Given the description of an element on the screen output the (x, y) to click on. 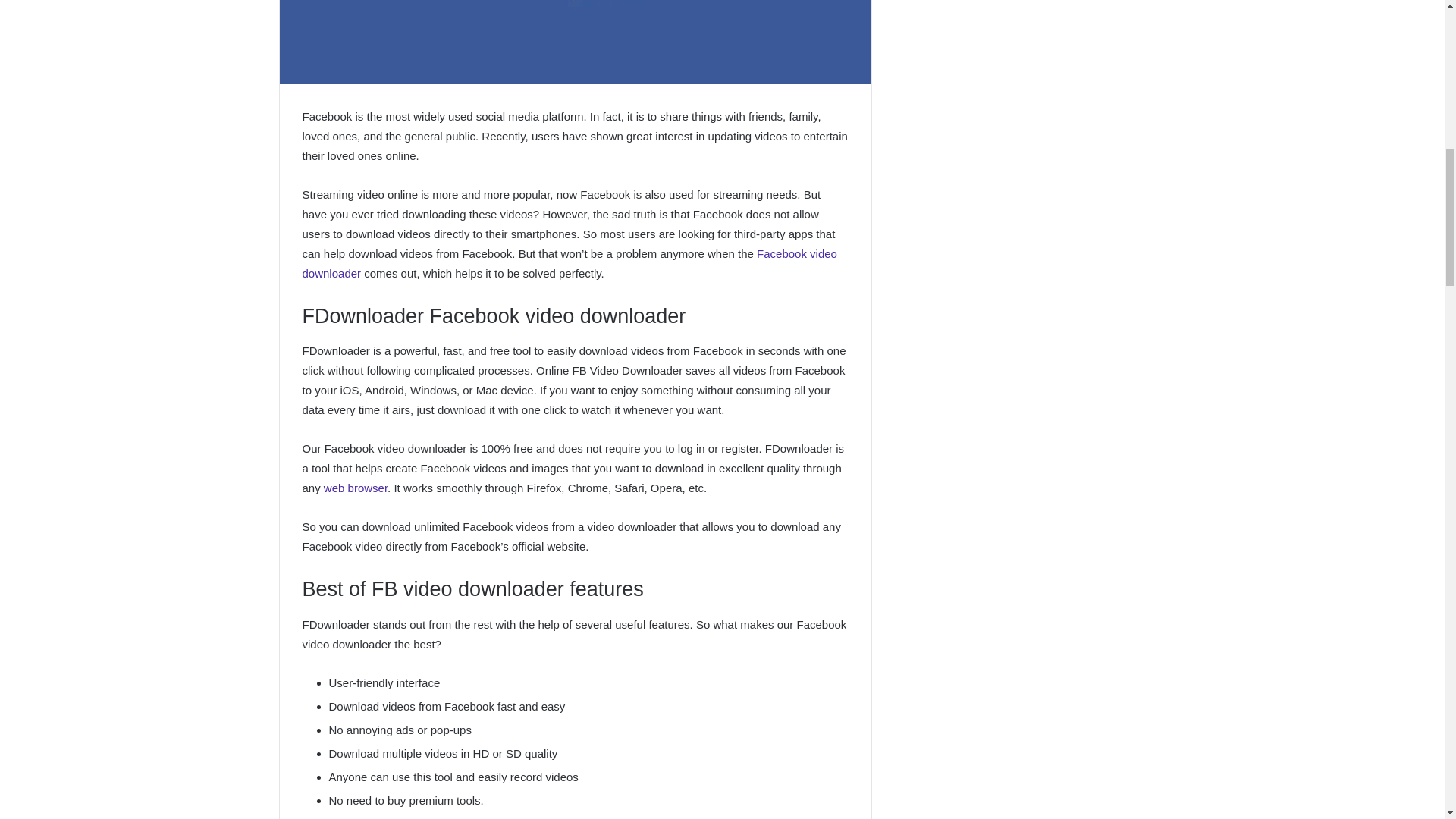
Facebook video downloader (568, 263)
web browser (355, 487)
